Given the description of an element on the screen output the (x, y) to click on. 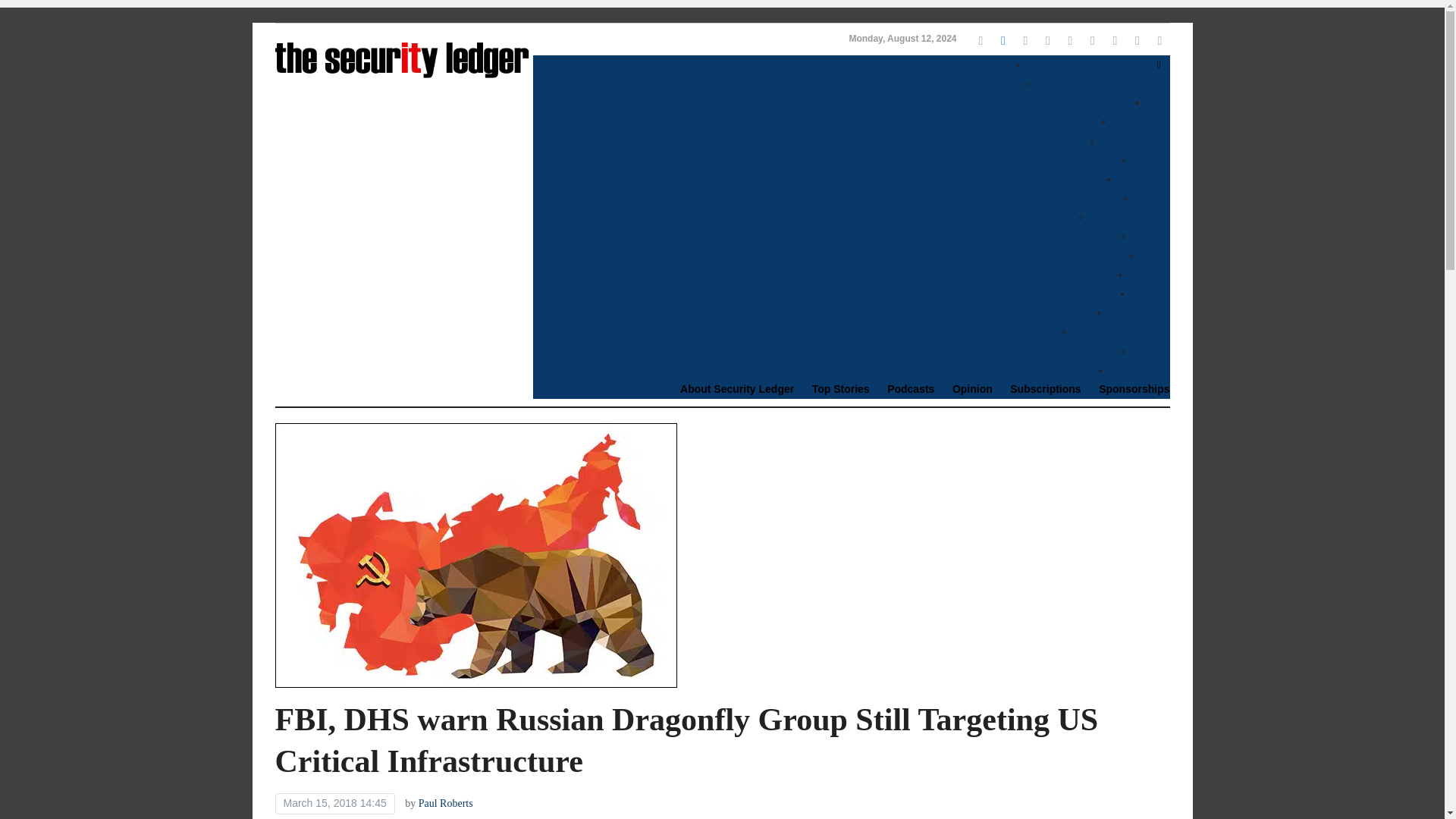
Podcasts (1151, 274)
About Security Ledger (729, 389)
Follow Me (1002, 39)
Subscriptions (1140, 312)
linkedin (1047, 39)
Staff (1160, 102)
Threats (1154, 197)
About Security Ledger (1078, 64)
Reports (1153, 235)
podcast (1137, 39)
